Given the description of an element on the screen output the (x, y) to click on. 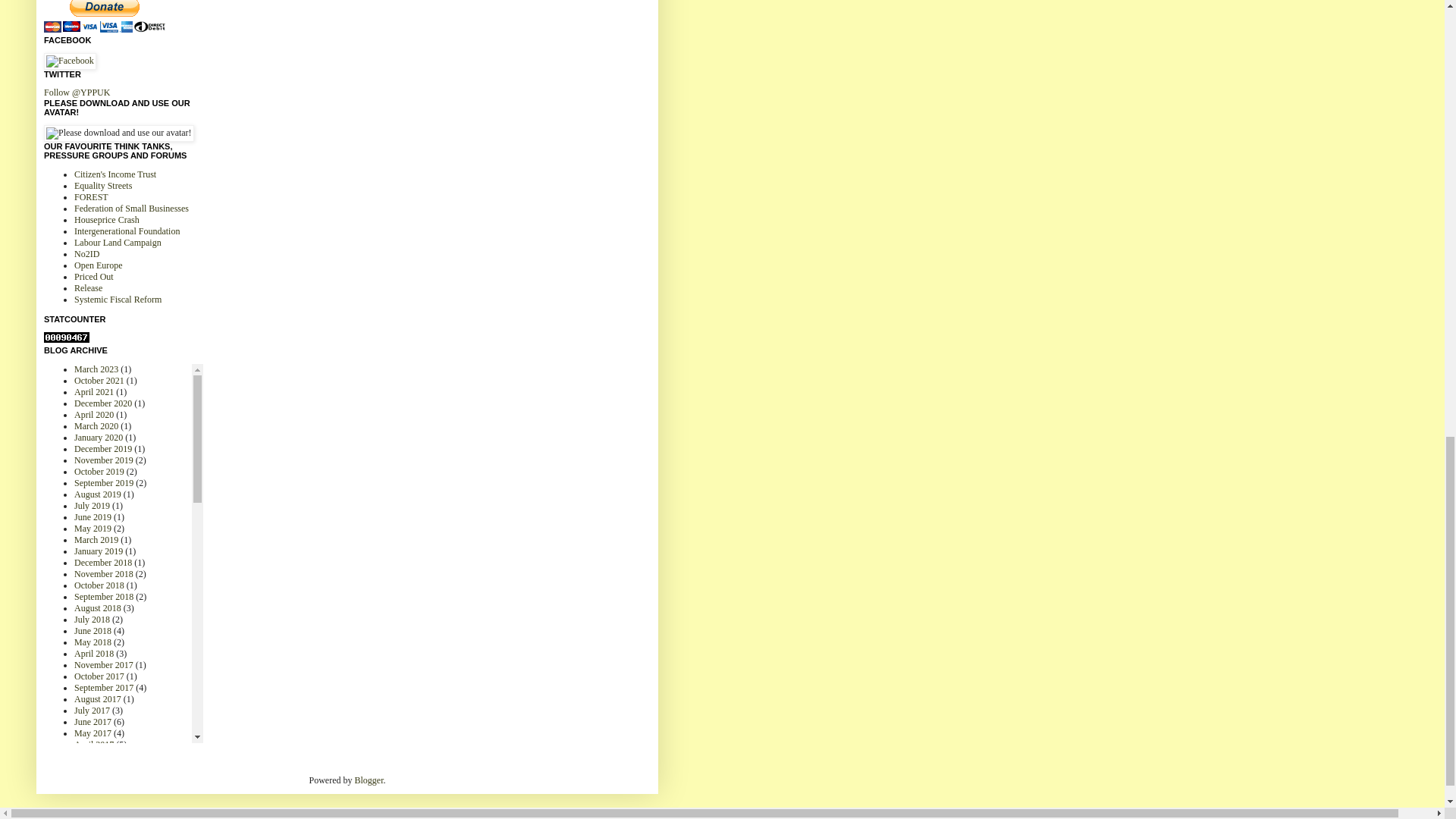
Intergenerational Foundation (126, 231)
Equality Streets (103, 185)
Federation of Small Businesses (131, 208)
FOREST (90, 196)
No2ID (86, 253)
Open Europe (98, 265)
Houseprice Crash (106, 219)
Citizen's Income Trust (114, 173)
Labour Land Campaign (117, 242)
